Given the description of an element on the screen output the (x, y) to click on. 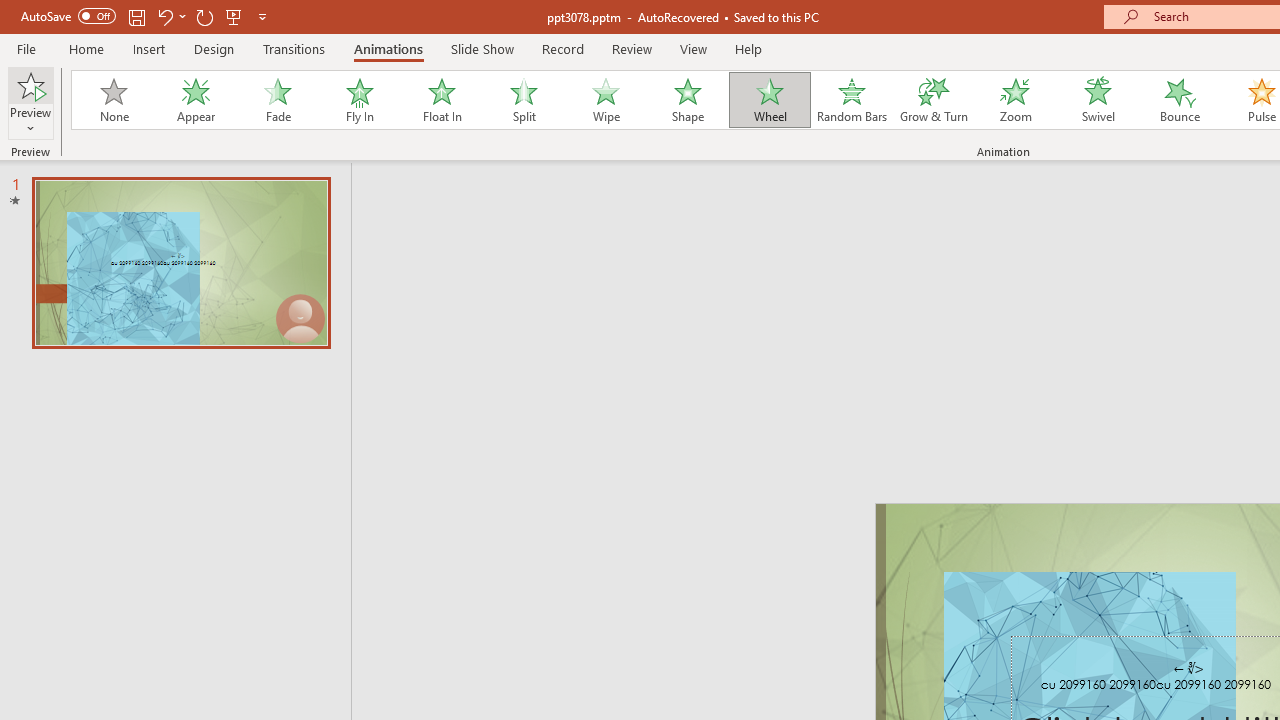
Bounce (1180, 100)
Swivel (1098, 100)
Shape (687, 100)
None (113, 100)
Float In (441, 100)
Random Bars (852, 100)
